Given the description of an element on the screen output the (x, y) to click on. 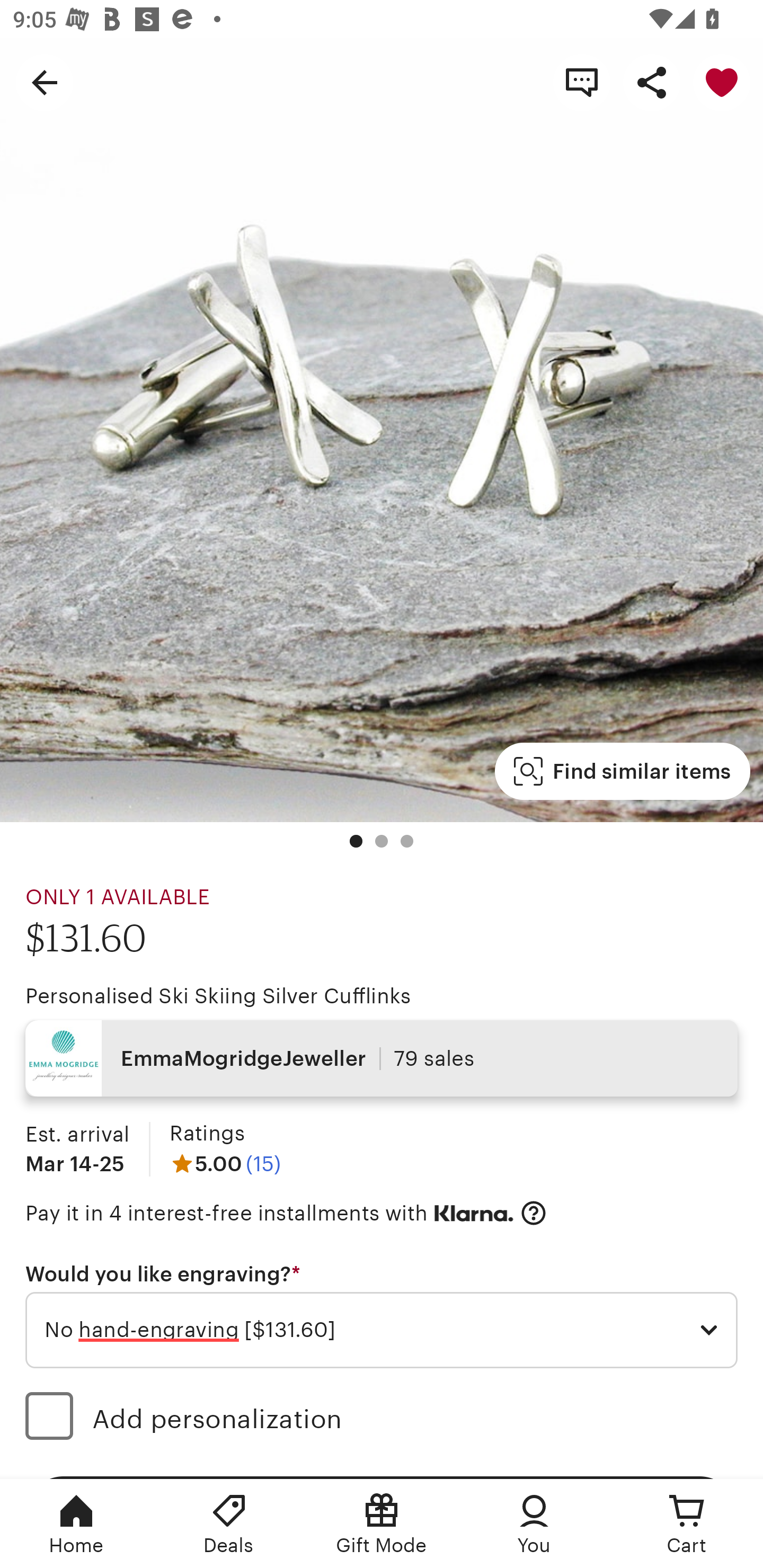
Navigate up (44, 81)
Contact shop (581, 81)
Share (651, 81)
Find similar items (622, 771)
Personalised Ski Skiing Silver Cufflinks (218, 996)
EmmaMogridgeJeweller 79 sales (381, 1058)
Ratings (206, 1133)
5.00 (15) (225, 1163)
No hand-engraving [$131.60] (381, 1330)
Add personalization (optional) Add personalization (381, 1418)
Deals (228, 1523)
Gift Mode (381, 1523)
You (533, 1523)
Cart (686, 1523)
